Given the description of an element on the screen output the (x, y) to click on. 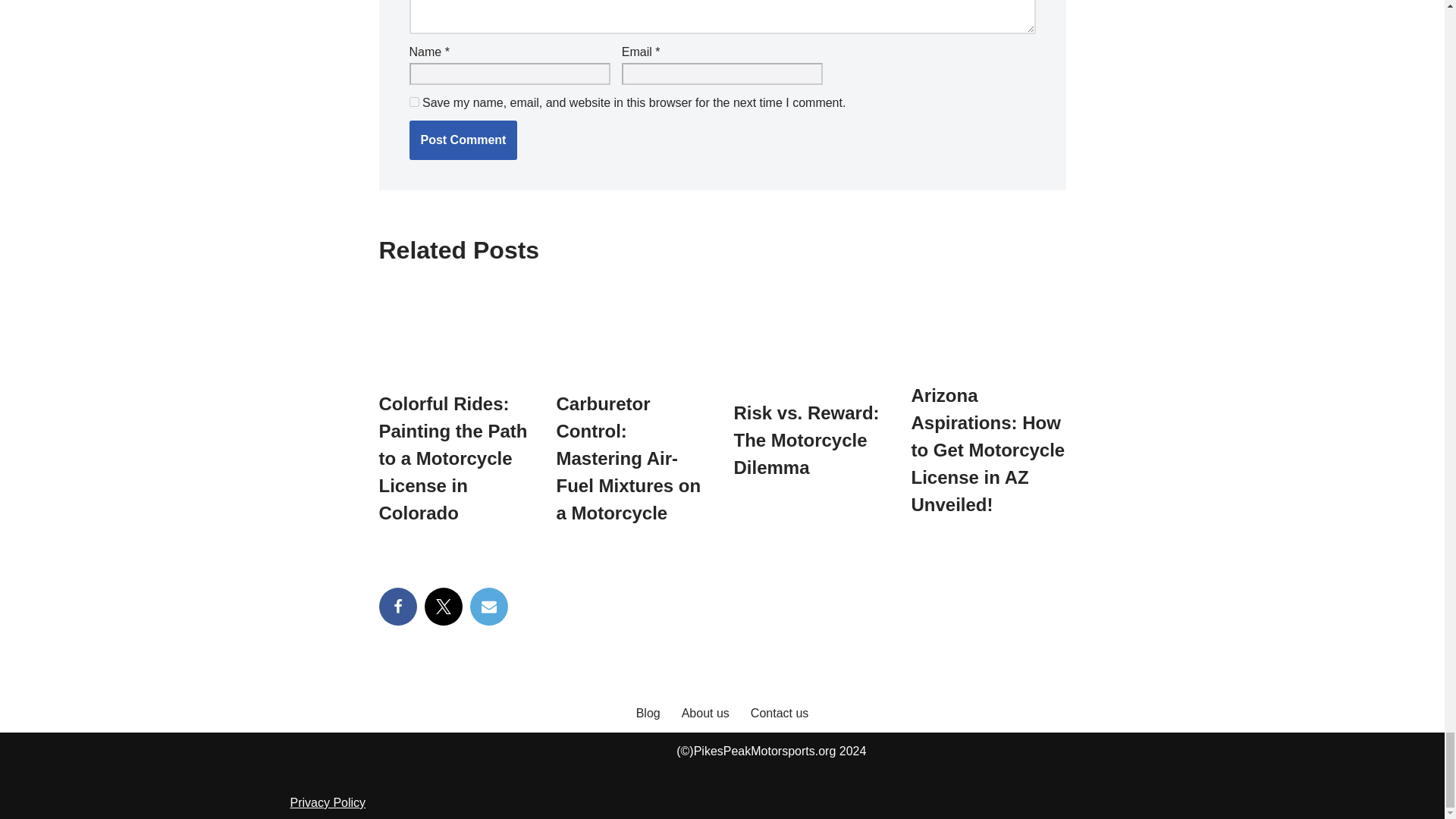
Email (489, 606)
yes (414, 102)
Post Comment (463, 139)
Facebook (397, 606)
X (444, 606)
